Given the description of an element on the screen output the (x, y) to click on. 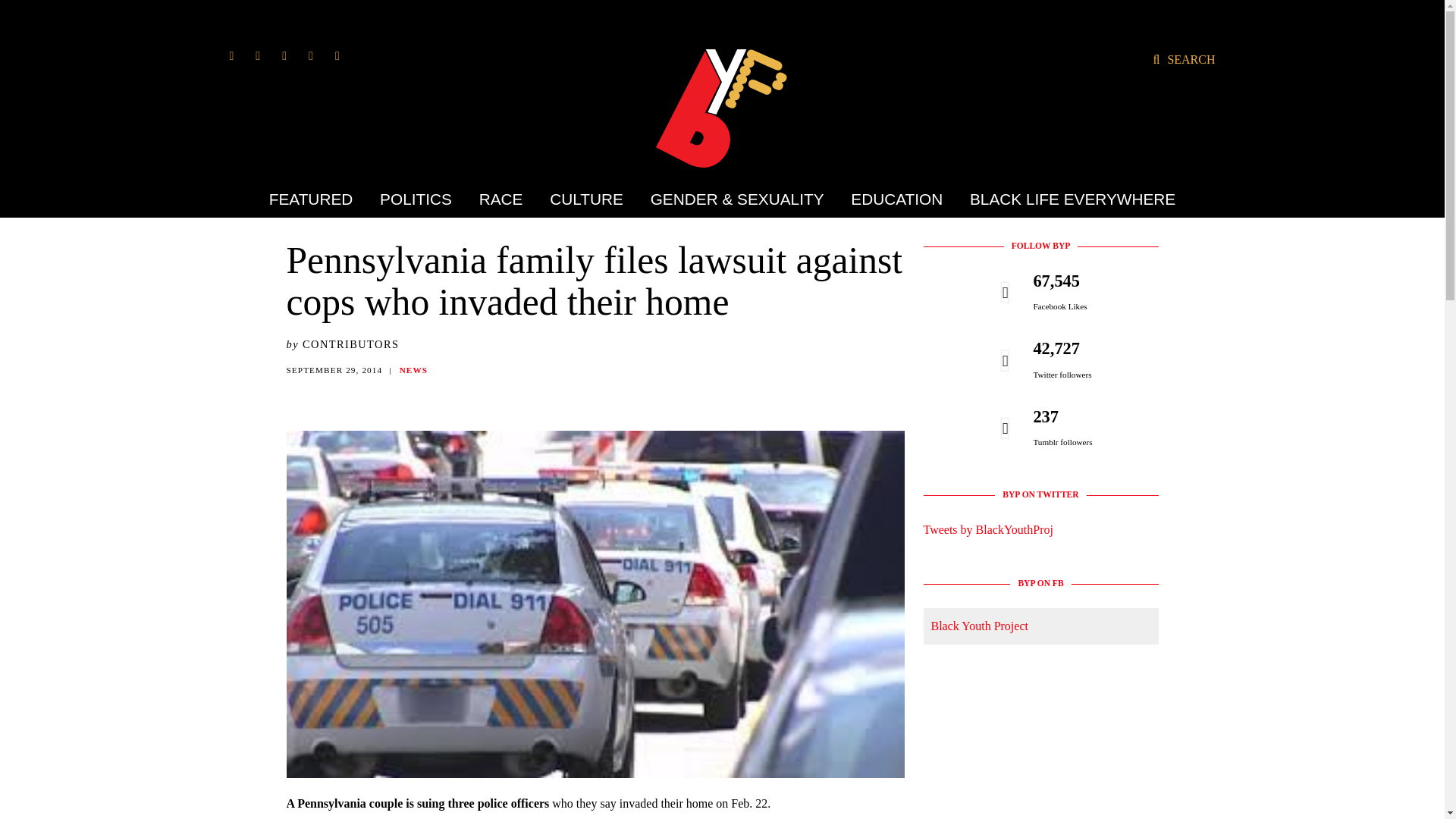
FEATURED (317, 198)
NEWS (413, 369)
EDUCATION (896, 198)
SEARCH (1183, 59)
POLITICS (415, 198)
BLACK LIFE EVERYWHERE (1066, 198)
CULTURE (586, 198)
RACE (500, 198)
by CONTRIBUTORS (342, 344)
